Given the description of an element on the screen output the (x, y) to click on. 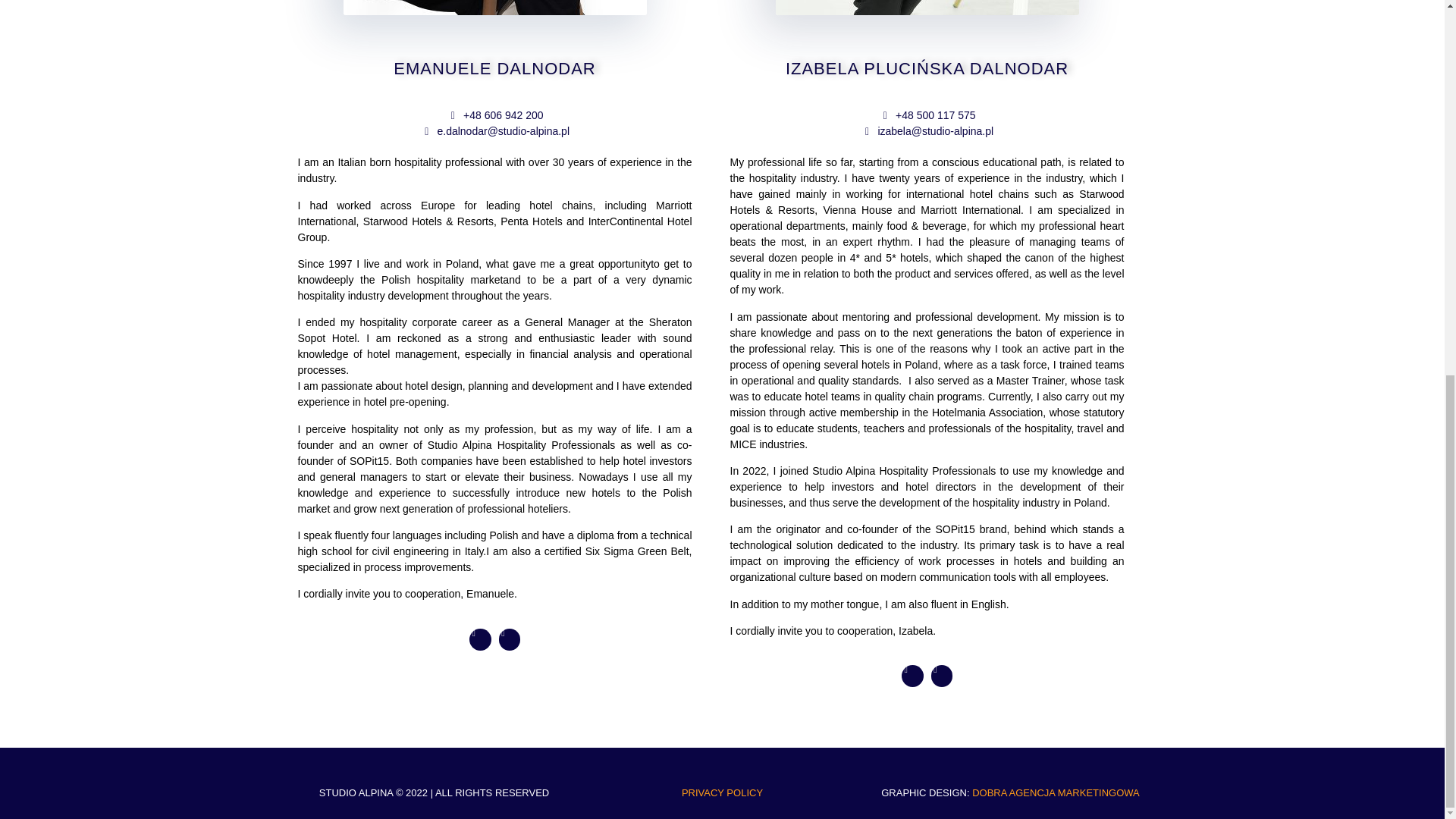
PRIVACY POLICY (721, 792)
studio alpina emanuele dalnodar (494, 7)
DOBRA AGENCJA MARKETINGOWA (1056, 792)
studio alpina iza plucinska dalnodar (926, 7)
